Given the description of an element on the screen output the (x, y) to click on. 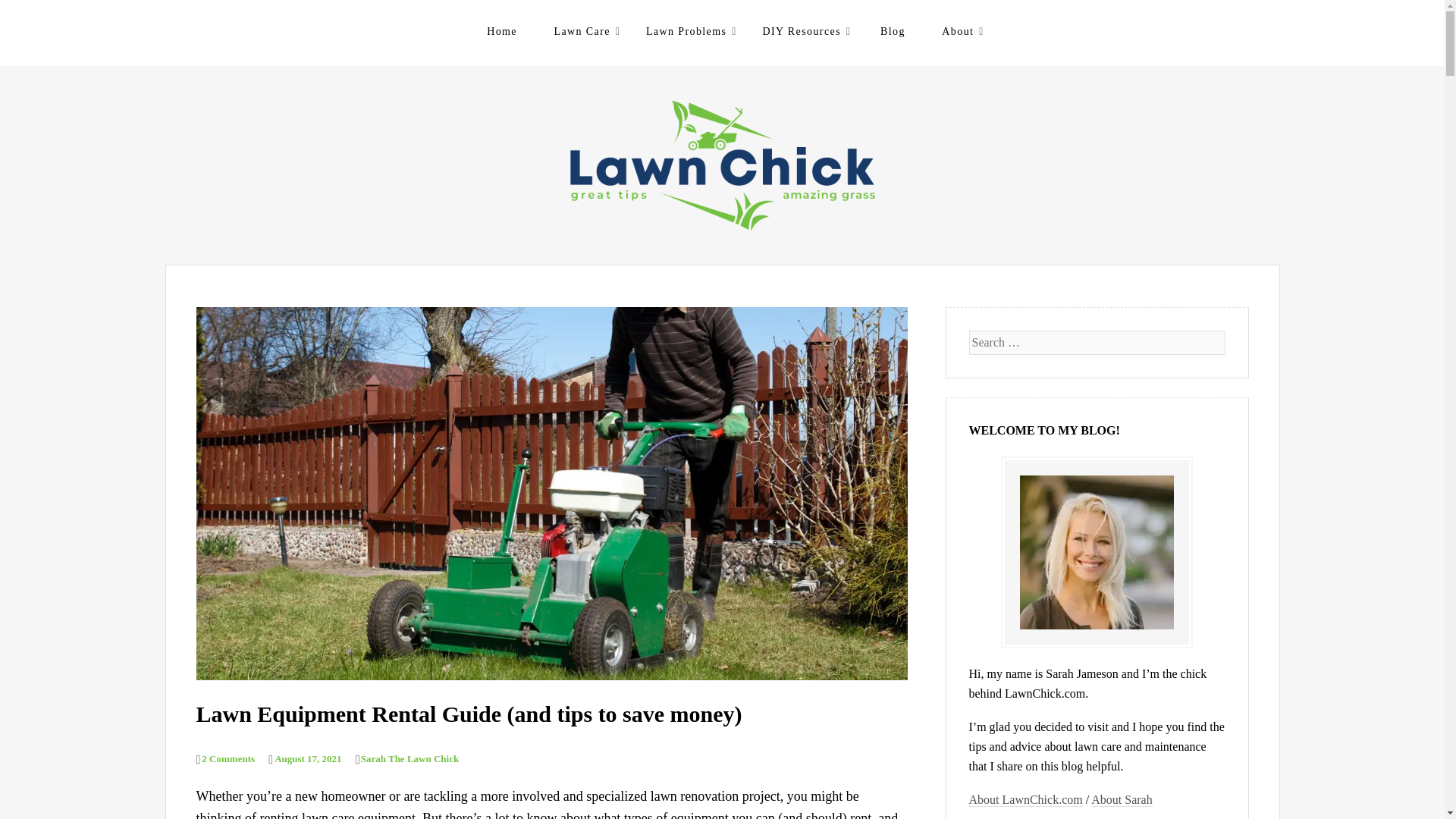
12:52 pm (303, 758)
About (958, 31)
2 Comments (224, 758)
View all posts by Sarah The Lawn Chick (406, 758)
Sarah The Lawn Chick (406, 758)
Blog (892, 31)
Lawn Care (582, 31)
DIY Resources (802, 31)
Home (501, 31)
Lawn Problems (687, 31)
